Given the description of an element on the screen output the (x, y) to click on. 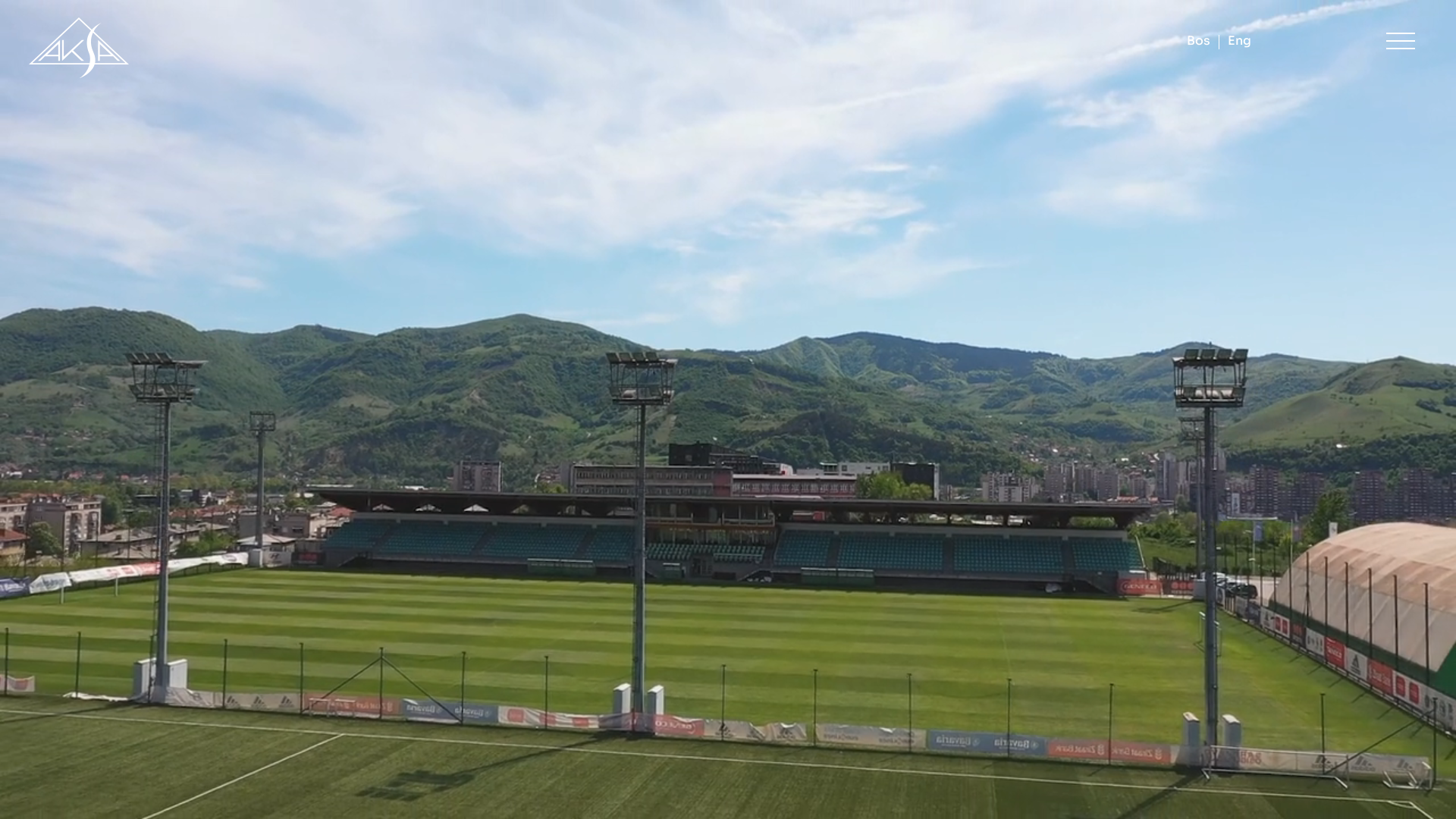
Eng Element type: text (1239, 41)
logo-white Element type: hover (78, 46)
Bos Element type: text (1198, 41)
